Given the description of an element on the screen output the (x, y) to click on. 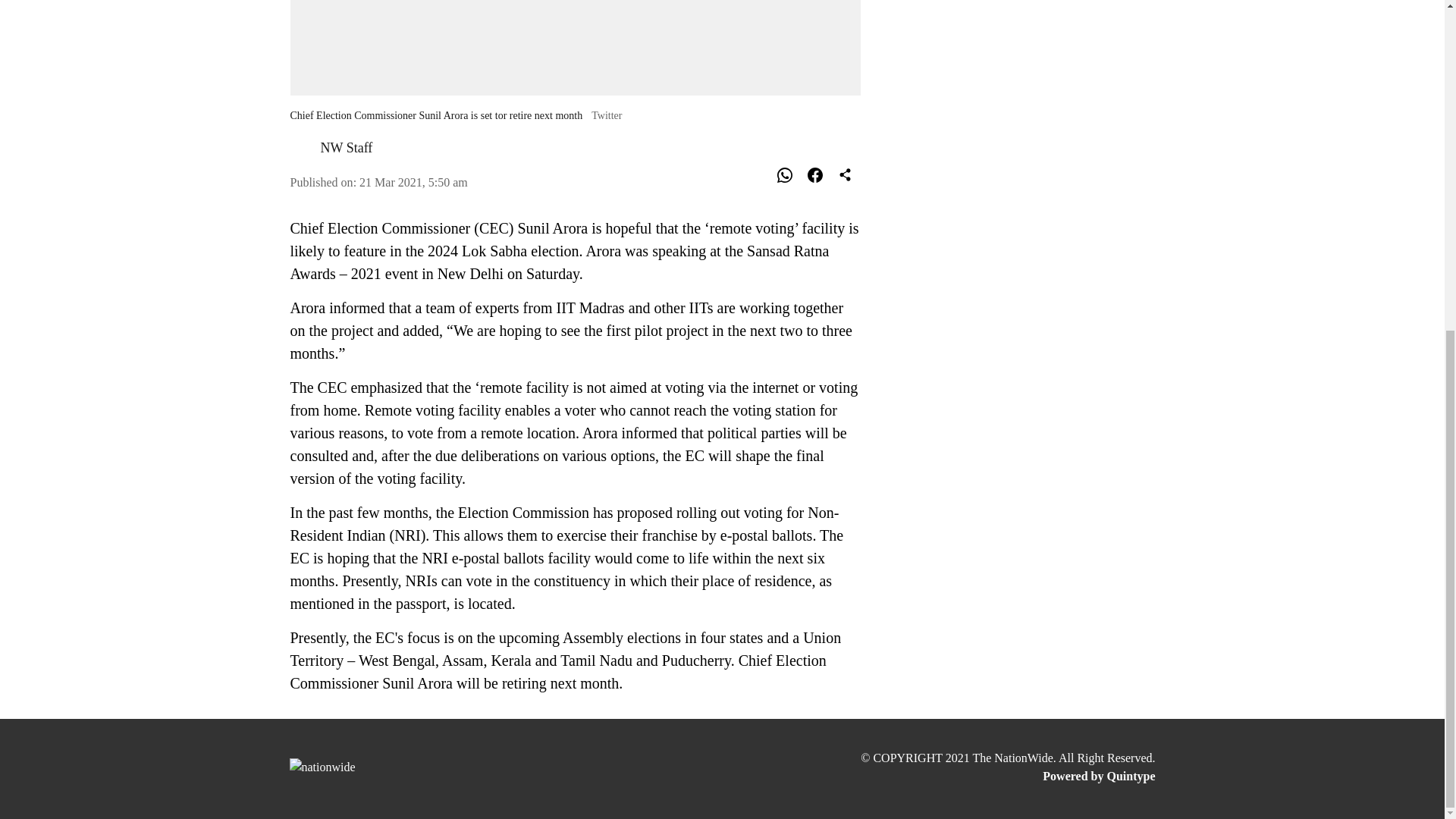
NW Staff (346, 147)
2021-03-21 05:50 (413, 182)
Powered by Quintype (1007, 776)
